Given the description of an element on the screen output the (x, y) to click on. 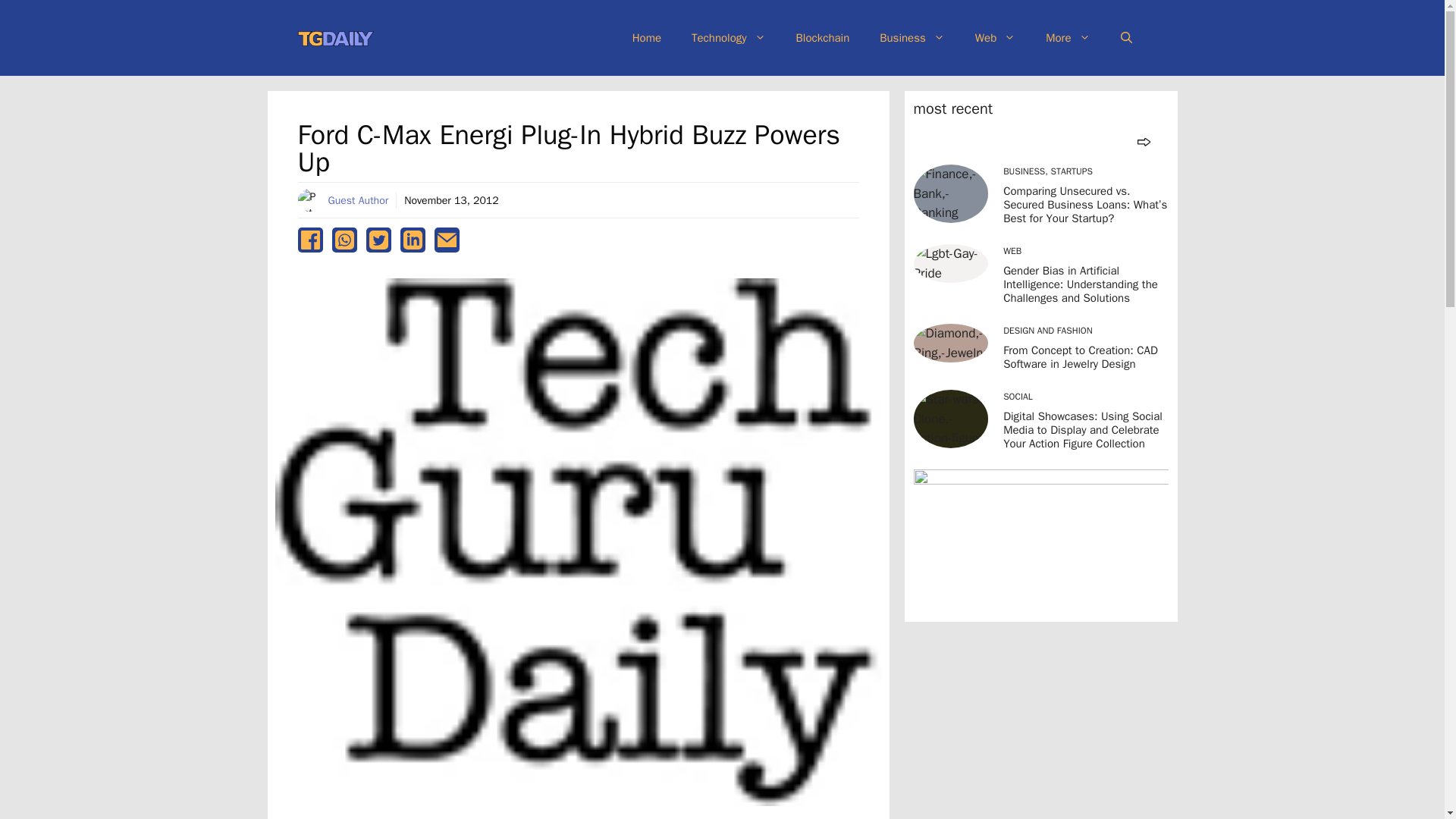
Web (994, 37)
More (1067, 37)
Blockchain (822, 37)
Technology (728, 37)
Home (647, 37)
purple-600x400-1 (1039, 540)
Business (911, 37)
